Given the description of an element on the screen output the (x, y) to click on. 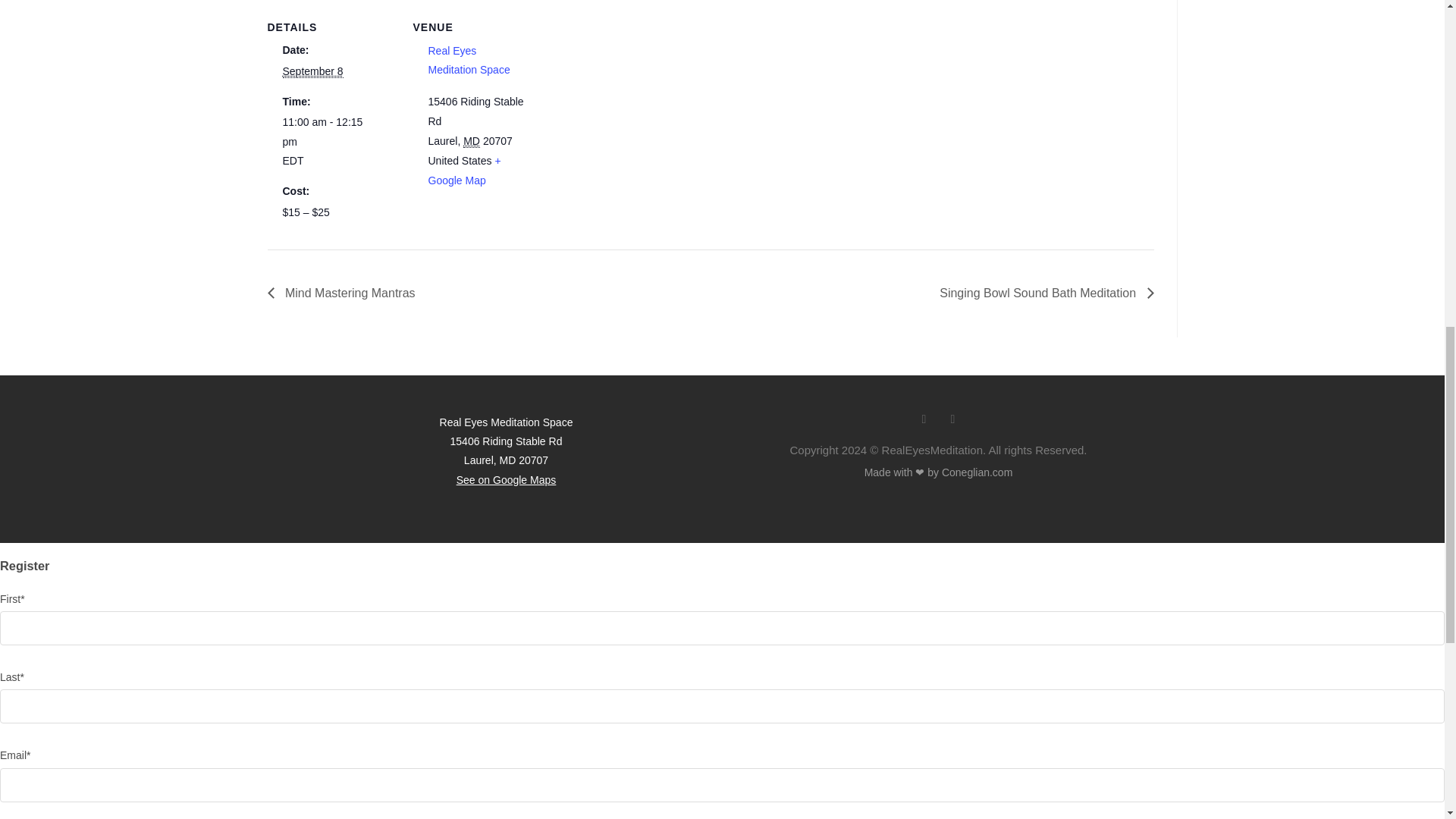
2024-09-08 (330, 141)
Maryland (471, 141)
Click to view a Google Map (464, 170)
2024-09-08 (312, 71)
